Given the description of an element on the screen output the (x, y) to click on. 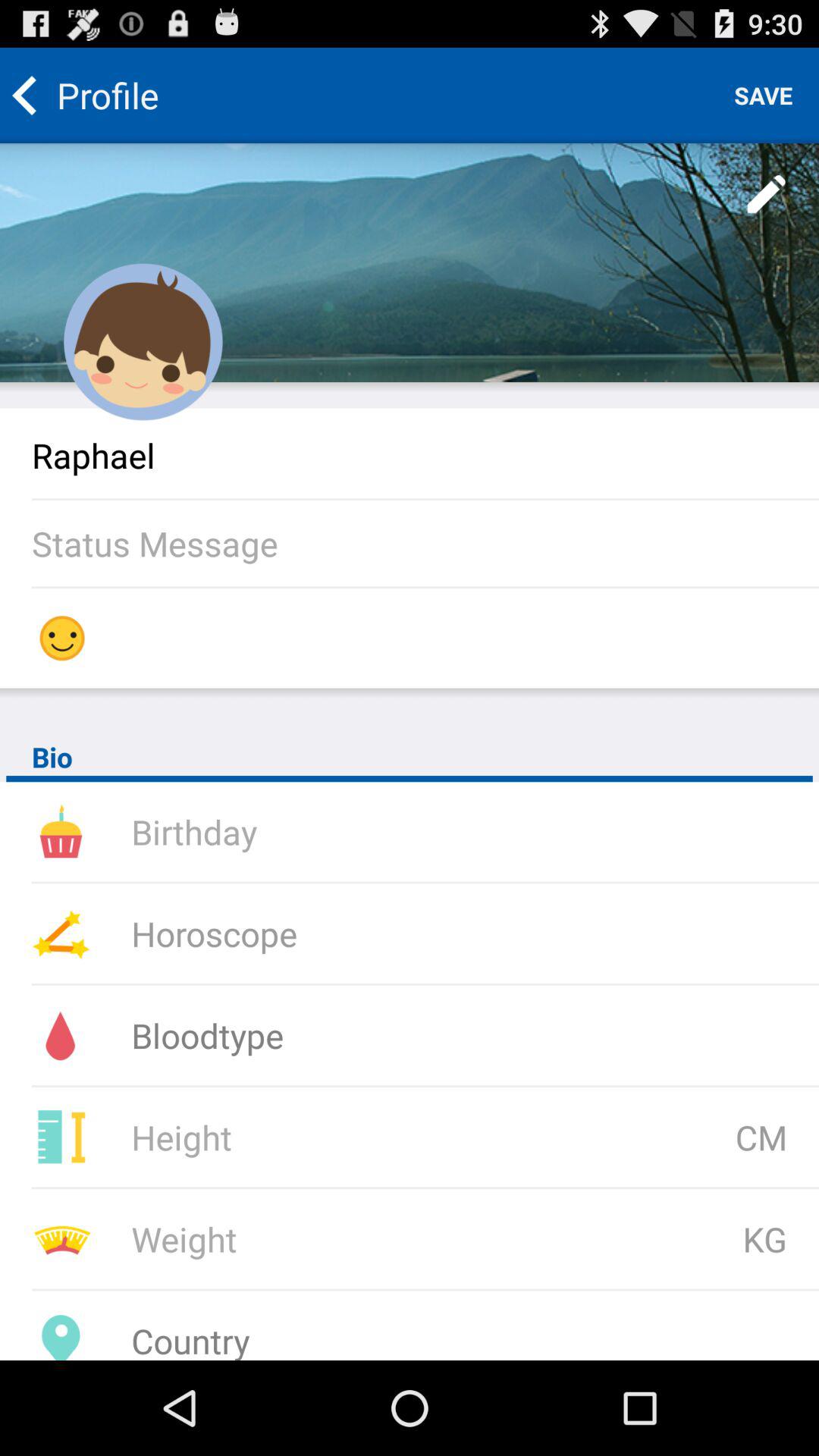
edit profile wallpaper (767, 194)
